Given the description of an element on the screen output the (x, y) to click on. 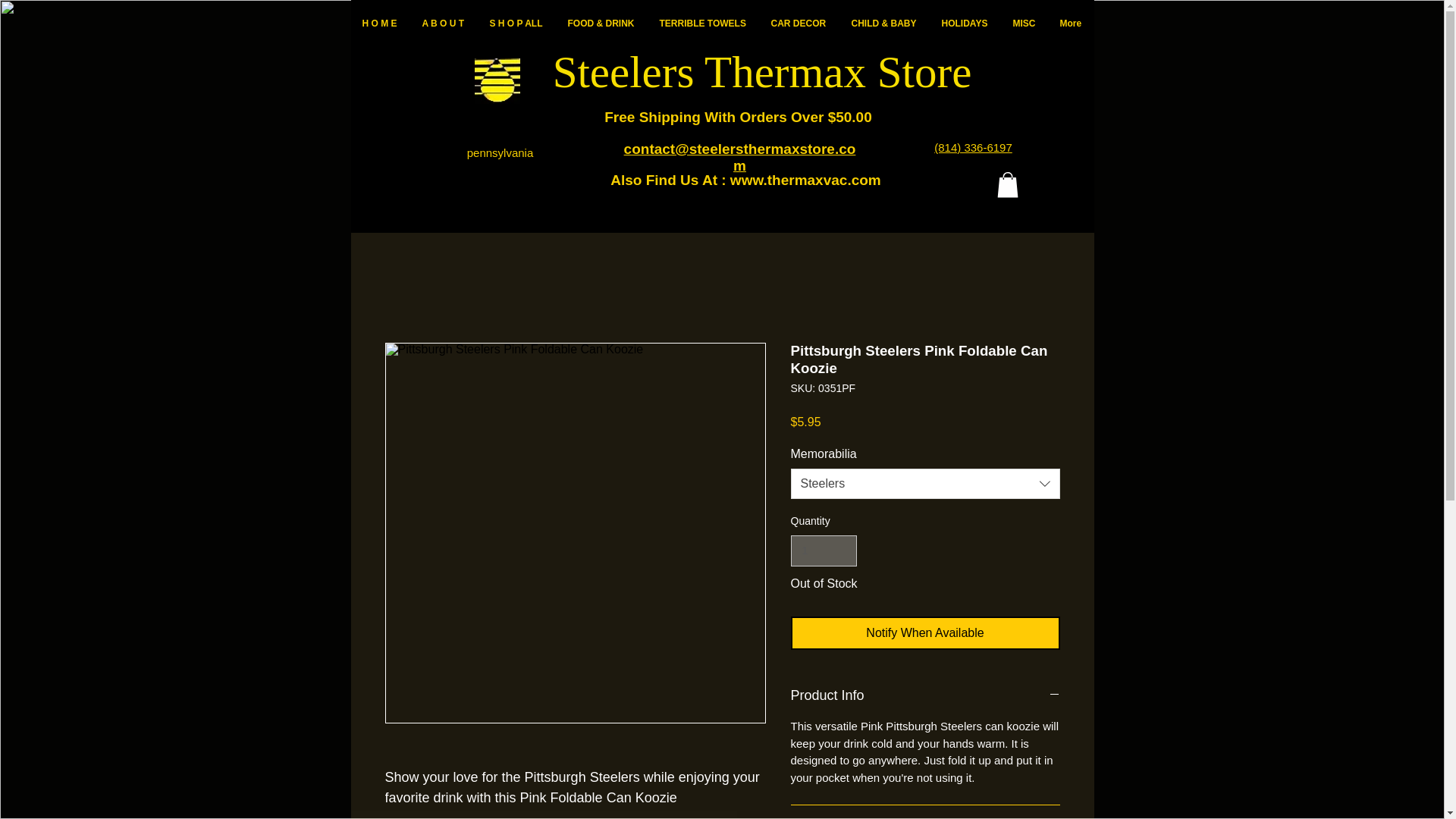
MISC (1023, 23)
1 (823, 550)
TERRIBLE TOWELS (702, 23)
CAR DECOR (800, 23)
H O M E (379, 23)
A B O U T (443, 23)
Notify When Available (924, 633)
S H O P ALL (515, 23)
Product Info (924, 695)
www.thermaxvac.com (805, 179)
